Given the description of an element on the screen output the (x, y) to click on. 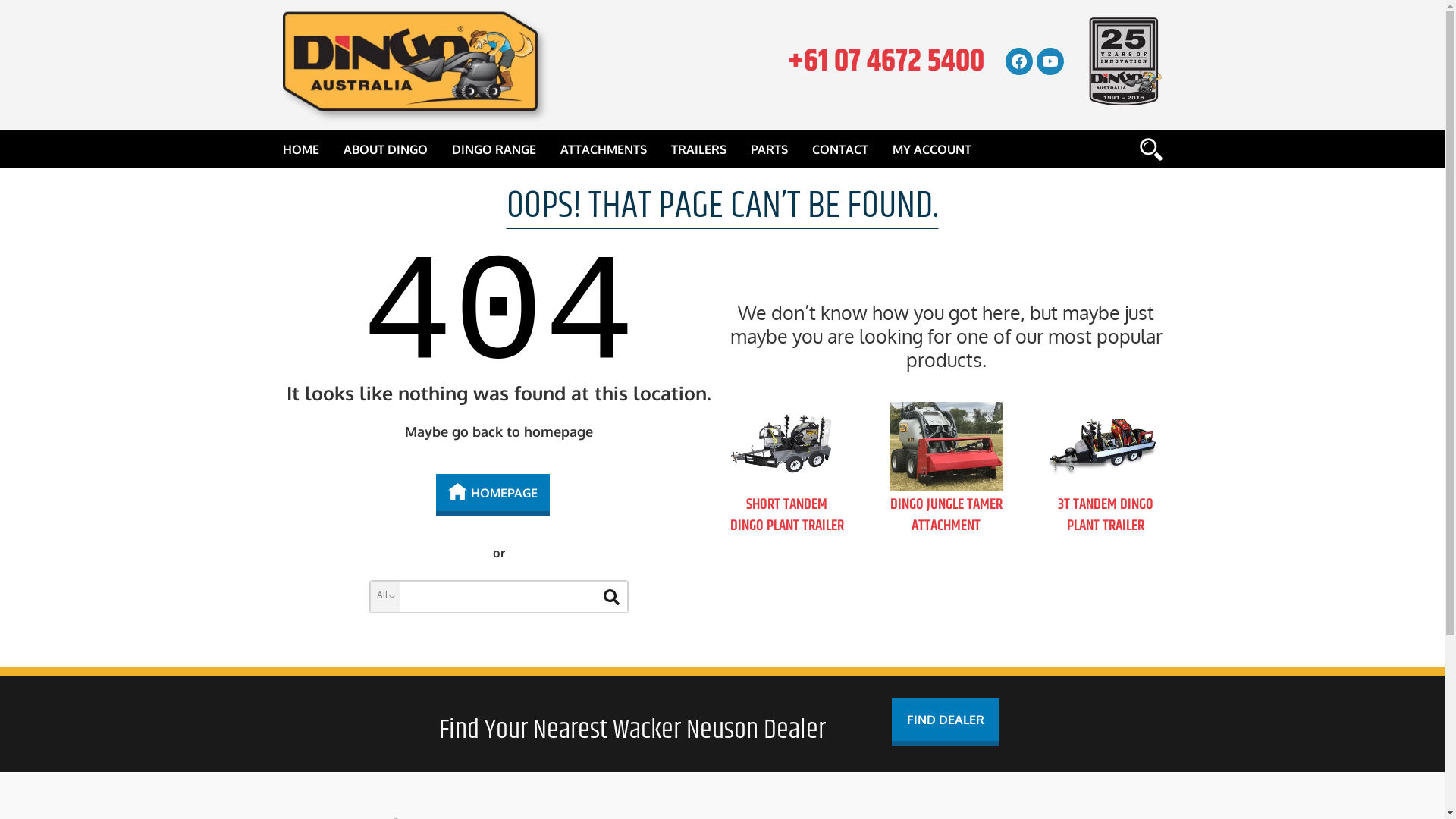
FIND DEALER Element type: text (945, 722)
DINGO JUNGLE TAMER ATTACHMENT Element type: text (945, 515)
HOMEPAGE Element type: text (492, 494)
+61 07 4672 5400 Element type: text (885, 61)
HOME Element type: text (306, 149)
ATTACHMENTS Element type: text (602, 149)
TRAILERS Element type: text (697, 149)
ABOUT DINGO Element type: text (384, 149)
SHORT TANDEM DINGO PLANT TRAILER Element type: text (786, 515)
3T TANDEM DINGO PLANT TRAILER Element type: text (1104, 515)
DINGO RANGE Element type: text (493, 149)
Facebook Element type: text (1018, 61)
PARTS Element type: text (769, 149)
CONTACT Element type: text (839, 149)
YouTube Element type: text (1049, 61)
MY ACCOUNT Element type: text (930, 149)
